Given the description of an element on the screen output the (x, y) to click on. 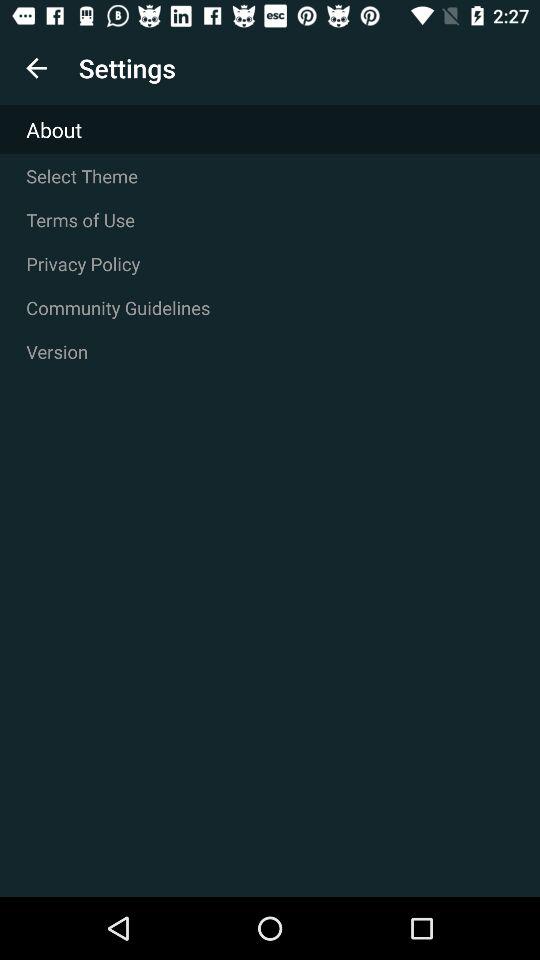
press icon next to the settings item (36, 68)
